Given the description of an element on the screen output the (x, y) to click on. 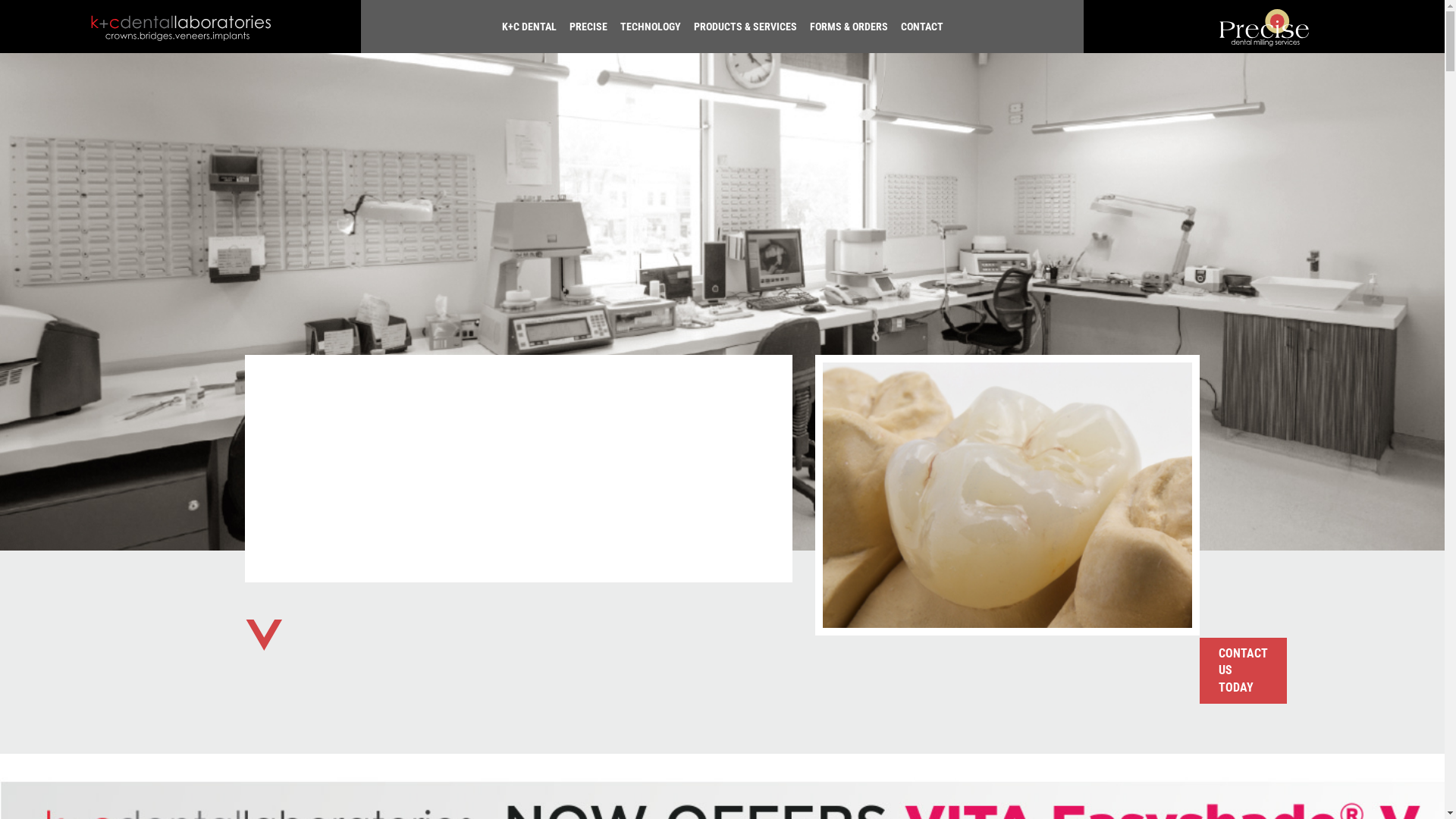
PRODUCTS & SERVICES Element type: text (745, 26)
FORMS & ORDERS Element type: text (847, 26)
CONTACT US TODAY Element type: text (1242, 670)
PRECISE Element type: text (588, 26)
K+C DENTAL Element type: text (531, 26)
TECHNOLOGY Element type: text (649, 26)
CONTACT Element type: text (918, 26)
Proudly Australian Made Element type: hover (517, 468)
